Given the description of an element on the screen output the (x, y) to click on. 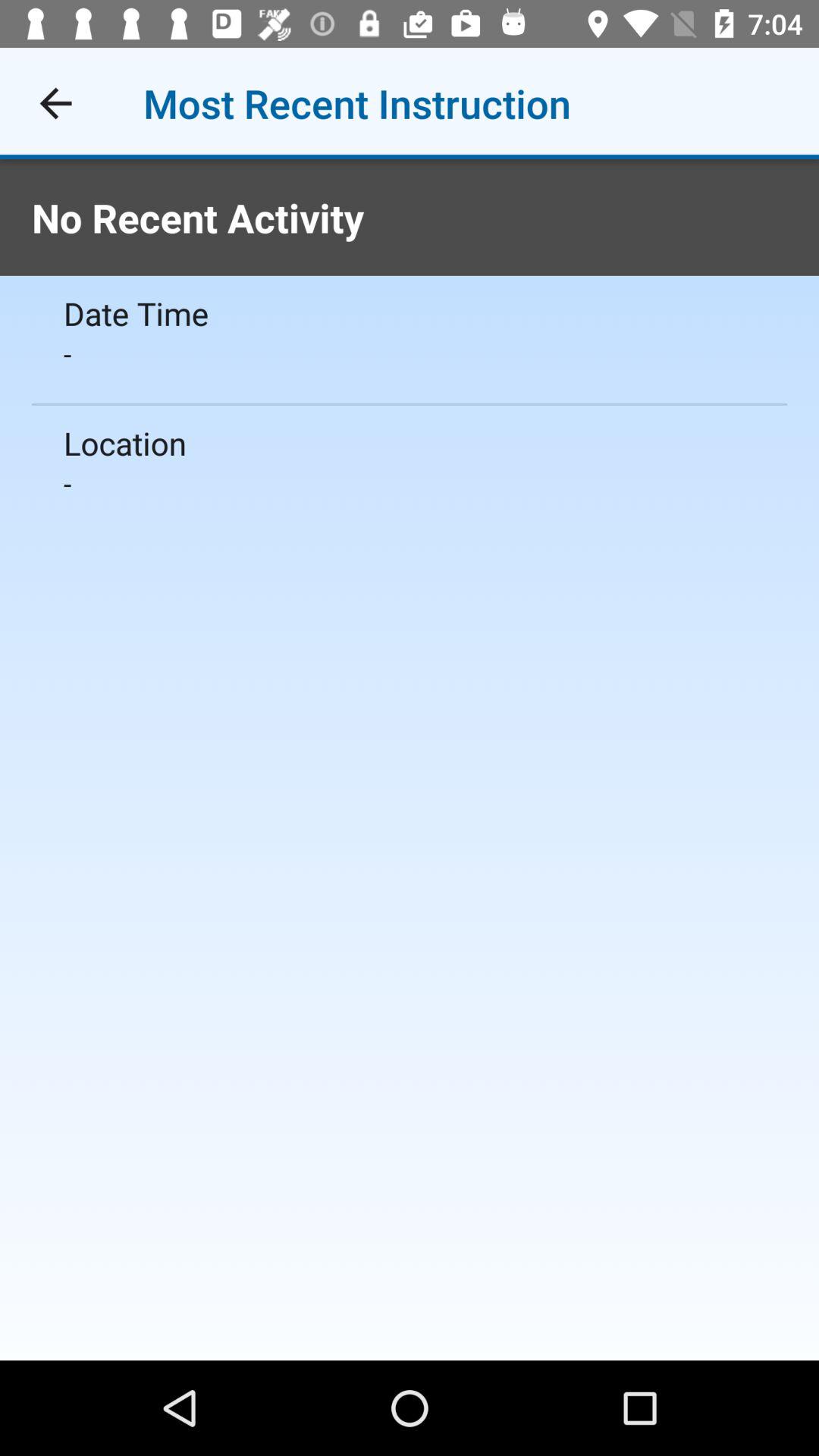
tap icon below the location item (409, 483)
